Given the description of an element on the screen output the (x, y) to click on. 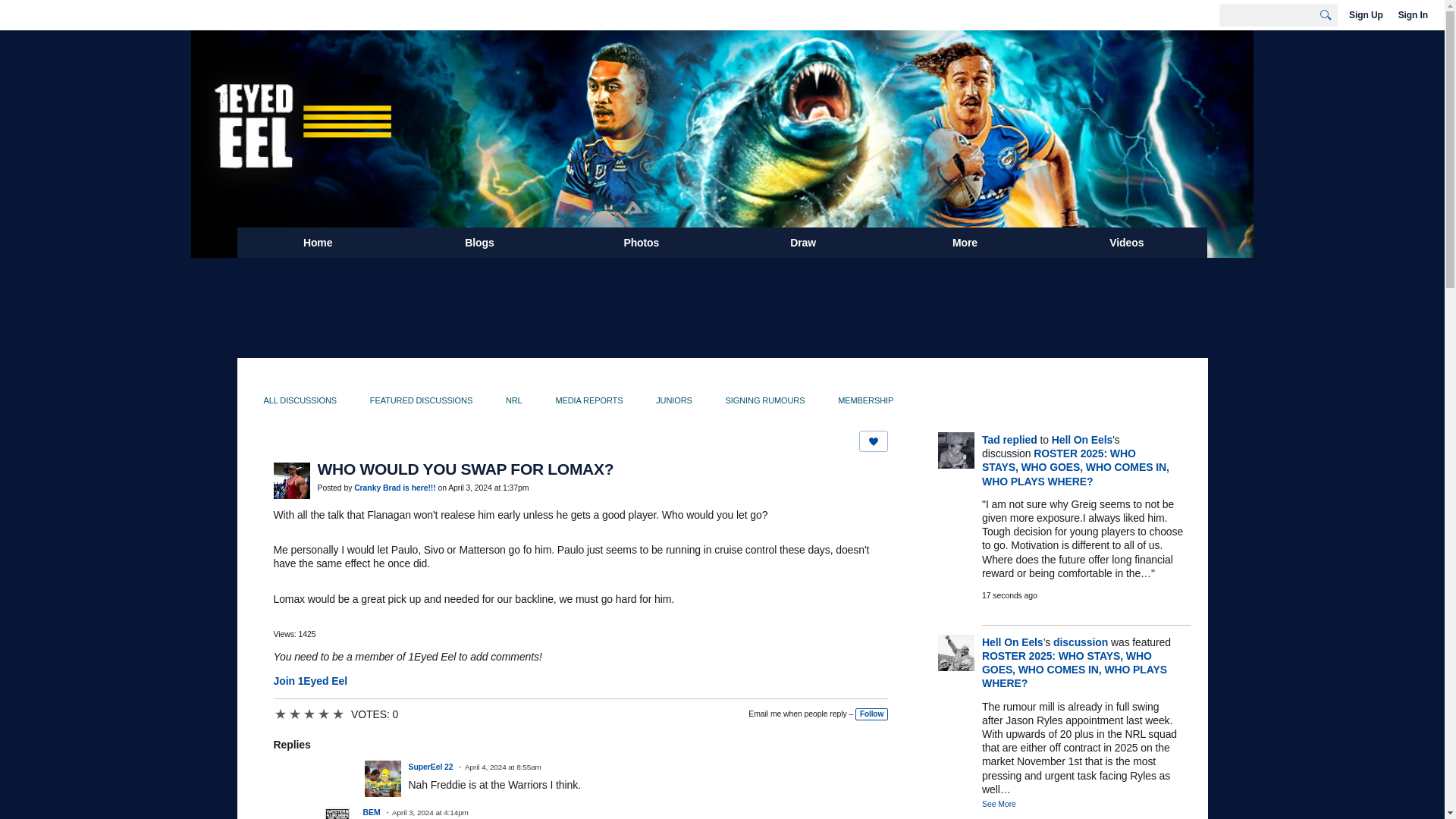
Like (873, 441)
Sign In (1412, 15)
NRL (513, 400)
Follow (872, 714)
Blogs (479, 242)
ALL DISCUSSIONS (300, 400)
BEM (371, 811)
MEMBERSHIP (865, 400)
Videos (1126, 242)
0 (309, 714)
SIGNING RUMOURS (764, 400)
More (964, 242)
JUNIORS (673, 400)
1Eyed Eel (721, 52)
Advertisement (721, 306)
